Given the description of an element on the screen output the (x, y) to click on. 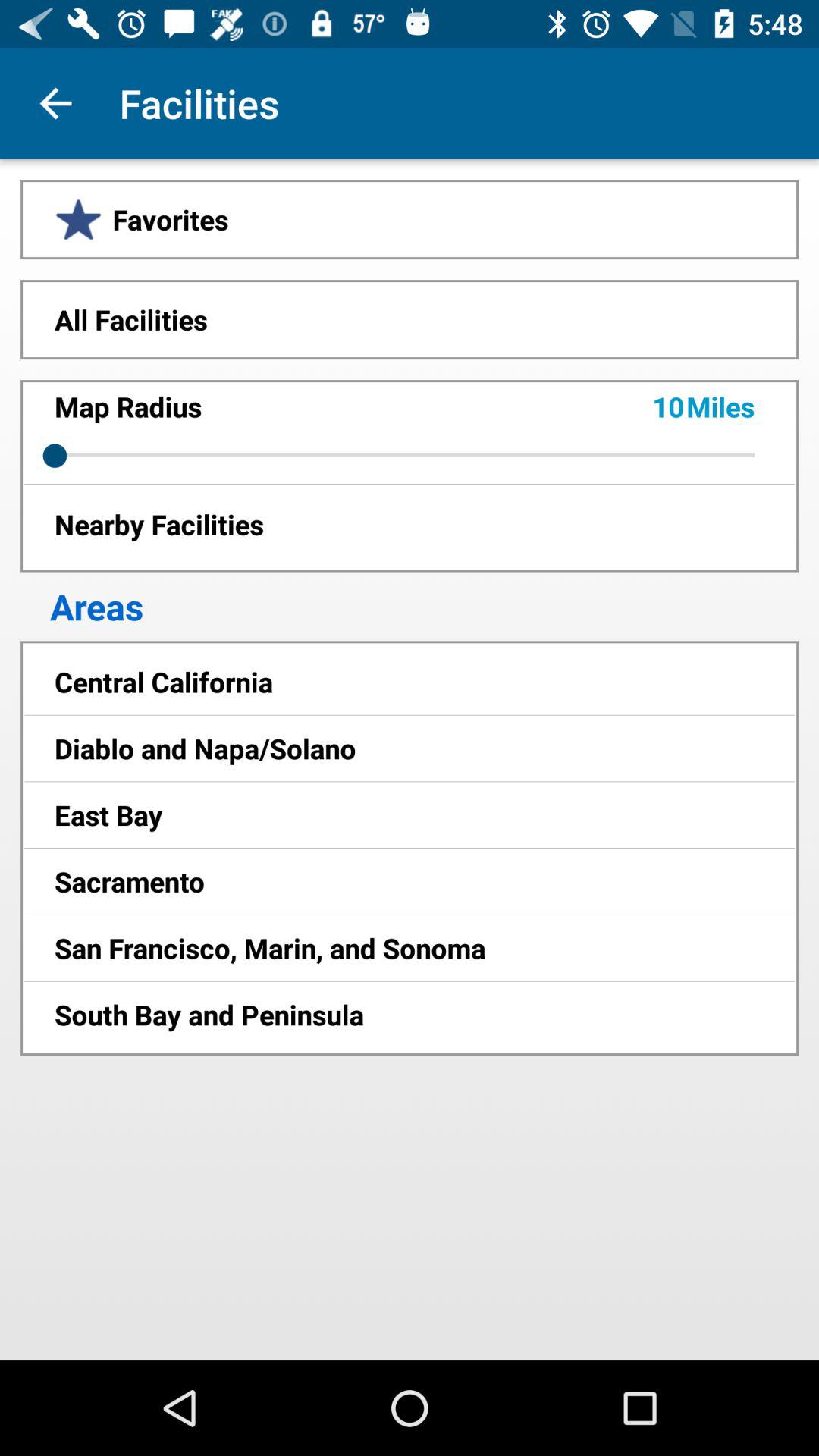
scroll to nearby facilities item (409, 524)
